Given the description of an element on the screen output the (x, y) to click on. 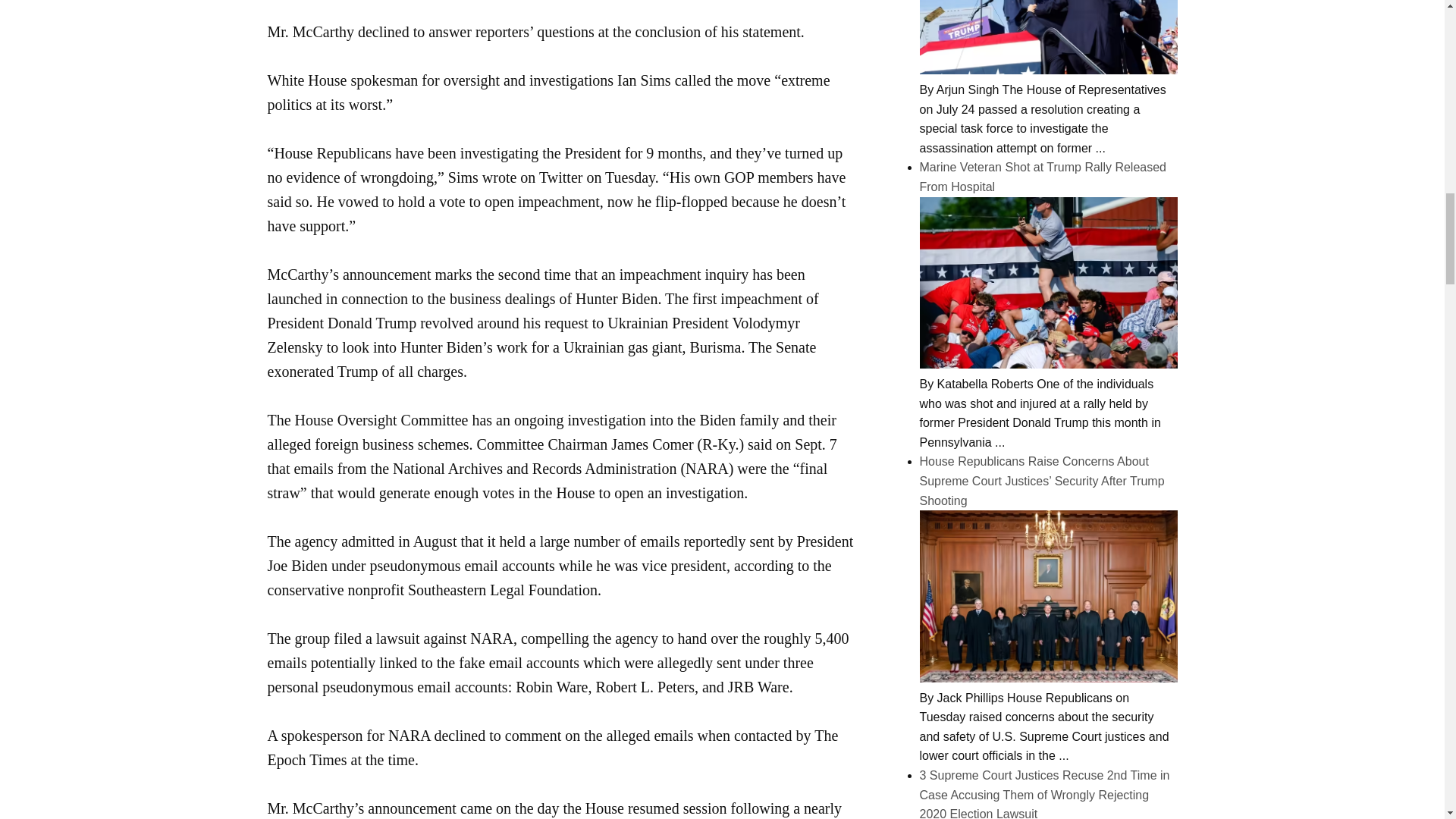
Marine Veteran Shot at Trump Rally Released From Hospital (1047, 364)
